Given the description of an element on the screen output the (x, y) to click on. 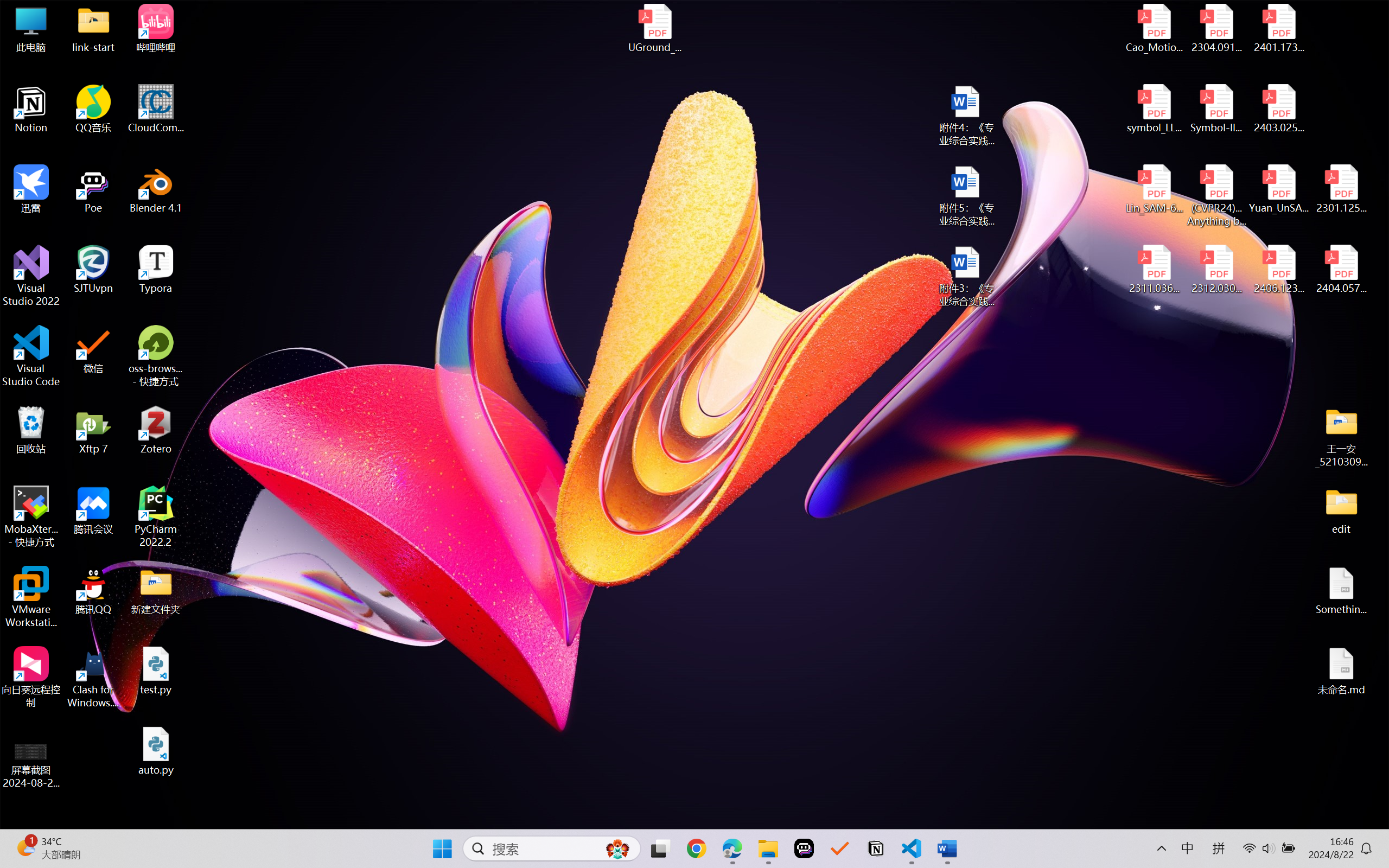
CloudCompare (156, 109)
Symbol-llm-v2.pdf (1216, 109)
test.py (156, 670)
VMware Workstation Pro (31, 597)
